Given the description of an element on the screen output the (x, y) to click on. 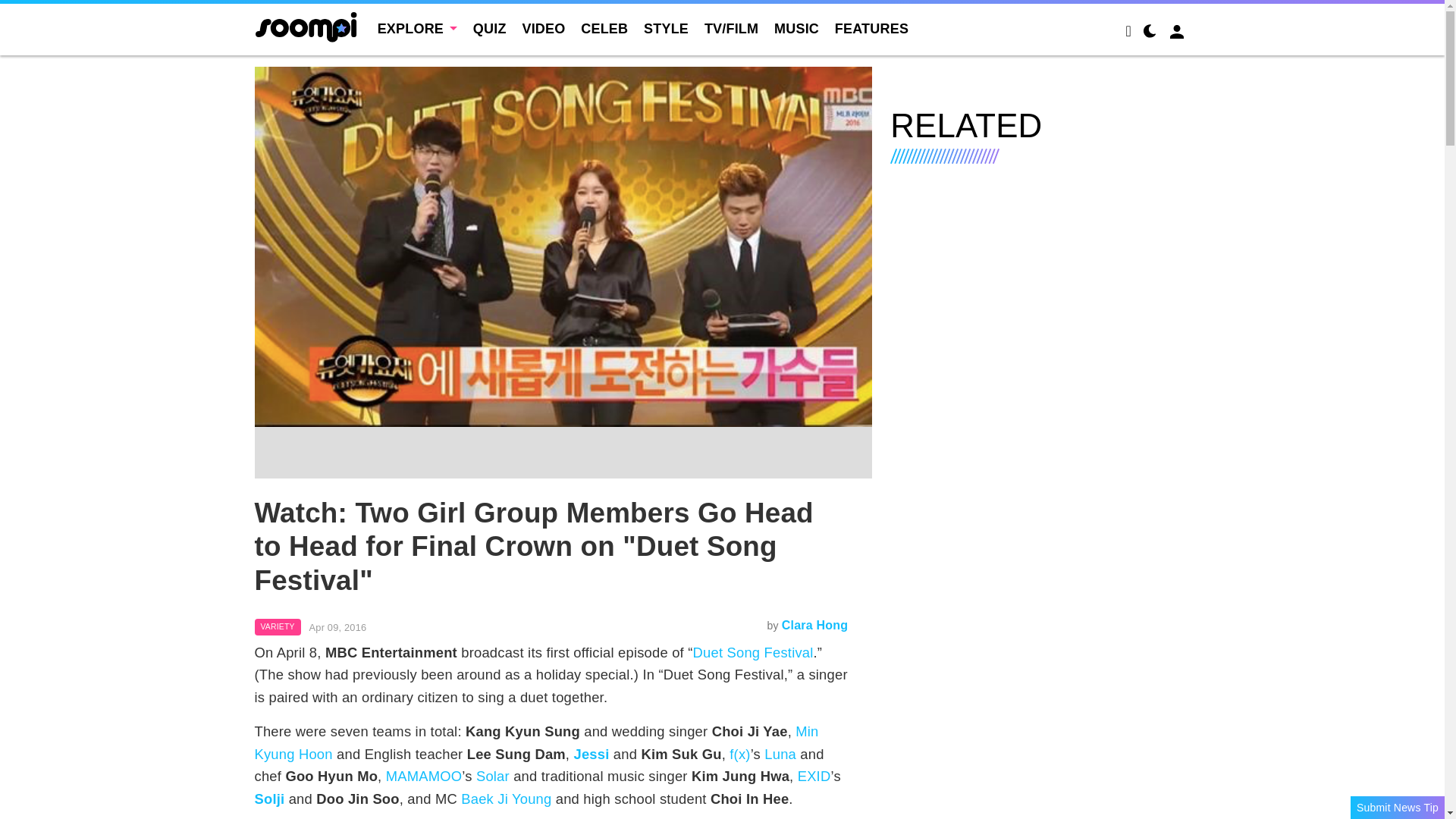
QUIZ (489, 28)
EXID (814, 775)
Luna (780, 754)
Duet Song Festival (753, 652)
EXPLORE (417, 28)
Jessi (590, 754)
MAMAMOO (424, 775)
FEATURES (871, 28)
Clara Hong (814, 625)
STYLE (665, 28)
